Given the description of an element on the screen output the (x, y) to click on. 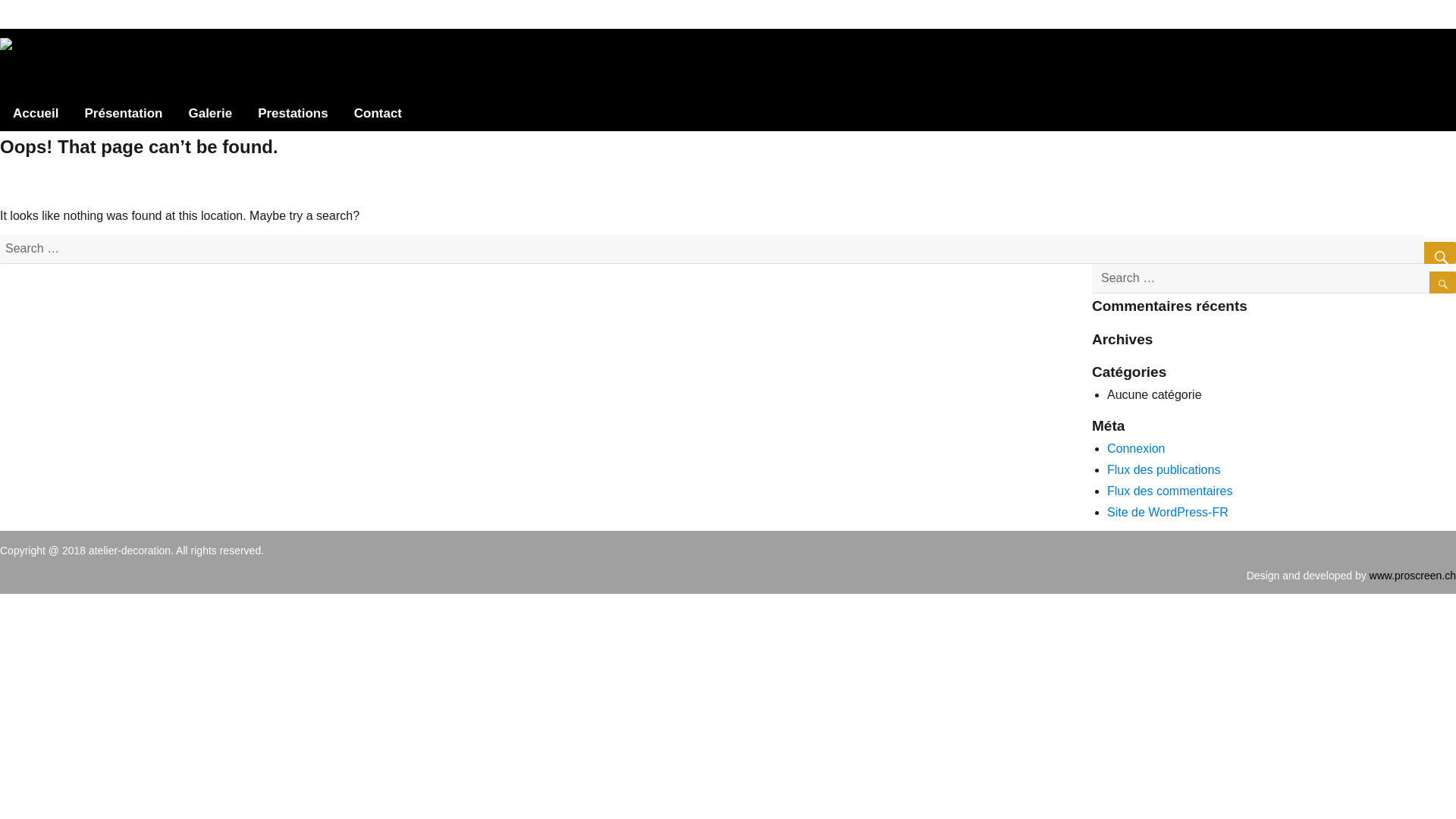
Galerie Element type: text (209, 113)
Flux des publications Element type: text (1163, 469)
079 606 59 89 Element type: text (1208, 13)
Flux des commentaires Element type: text (1169, 490)
Site de WordPress-FR Element type: text (1167, 511)
latelierdecoration@bluewin.ch Element type: text (1376, 13)
Contact Element type: text (377, 113)
Prestations Element type: text (292, 113)
Accueil Element type: text (35, 113)
Connexion Element type: text (1136, 448)
